Given the description of an element on the screen output the (x, y) to click on. 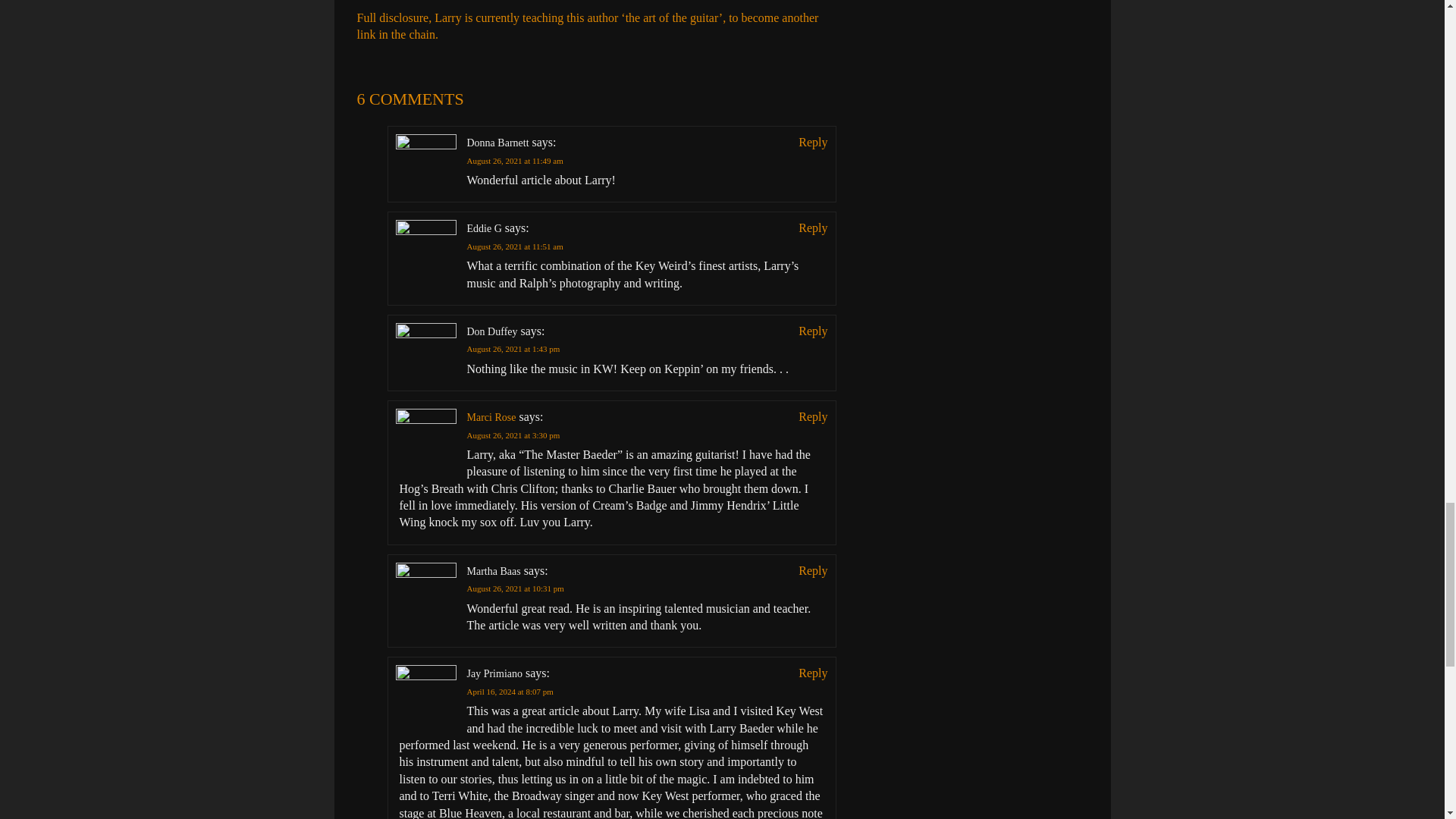
August 26, 2021 at 11:49 am (515, 160)
Reply (812, 142)
August 26, 2021 at 10:31 pm (515, 587)
Reply (812, 416)
August 26, 2021 at 11:51 am (515, 245)
Marci Rose (491, 417)
April 16, 2024 at 8:07 pm (510, 691)
Reply (812, 330)
August 26, 2021 at 1:43 pm (513, 347)
Reply (812, 228)
